Given the description of an element on the screen output the (x, y) to click on. 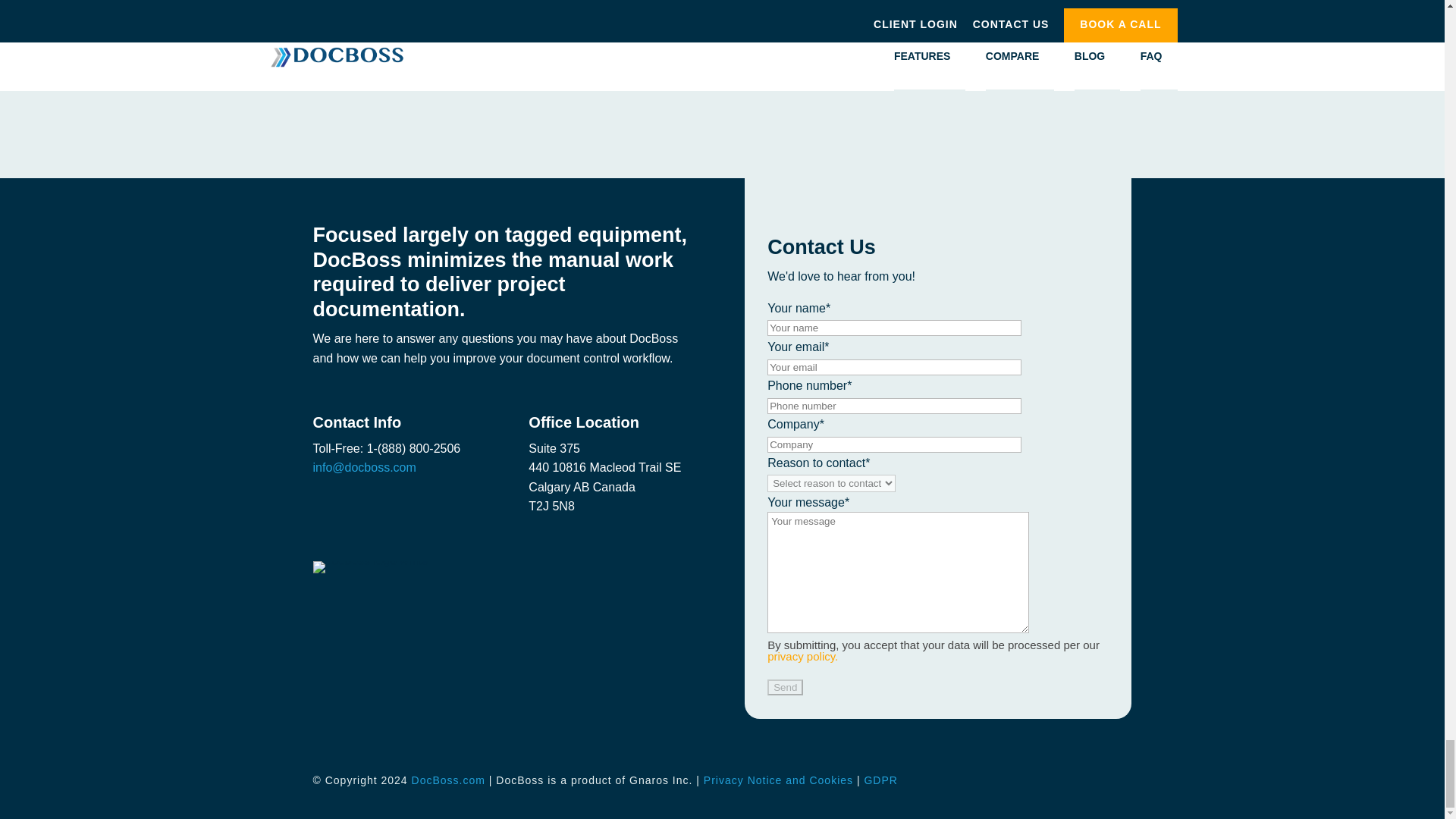
privacy policy. (802, 656)
Send (785, 687)
DocBoss.com (445, 779)
GDPR (879, 779)
Privacy Notice and Cookies (778, 779)
Send (785, 687)
